Given the description of an element on the screen output the (x, y) to click on. 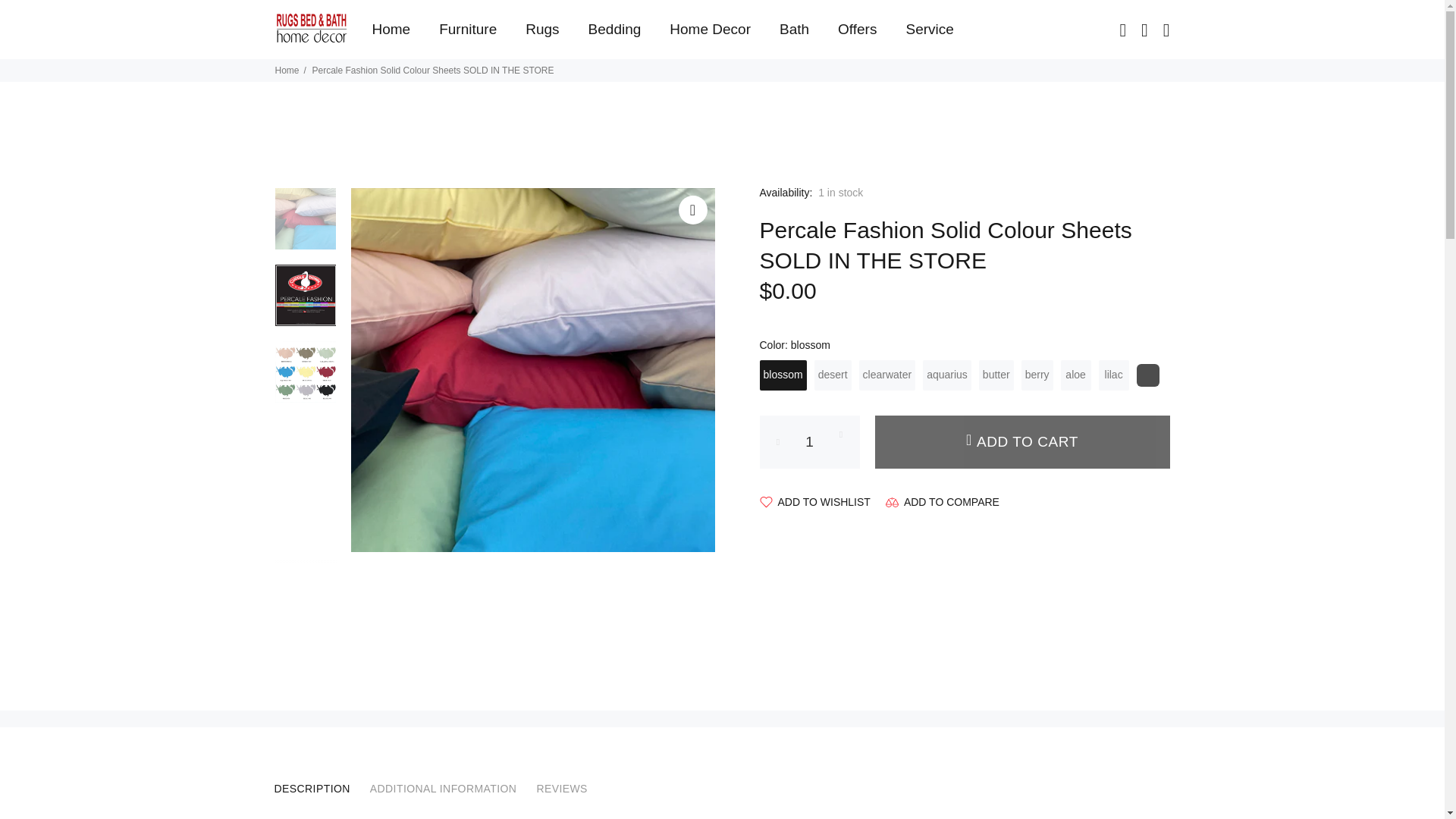
1 (810, 441)
